Given the description of an element on the screen output the (x, y) to click on. 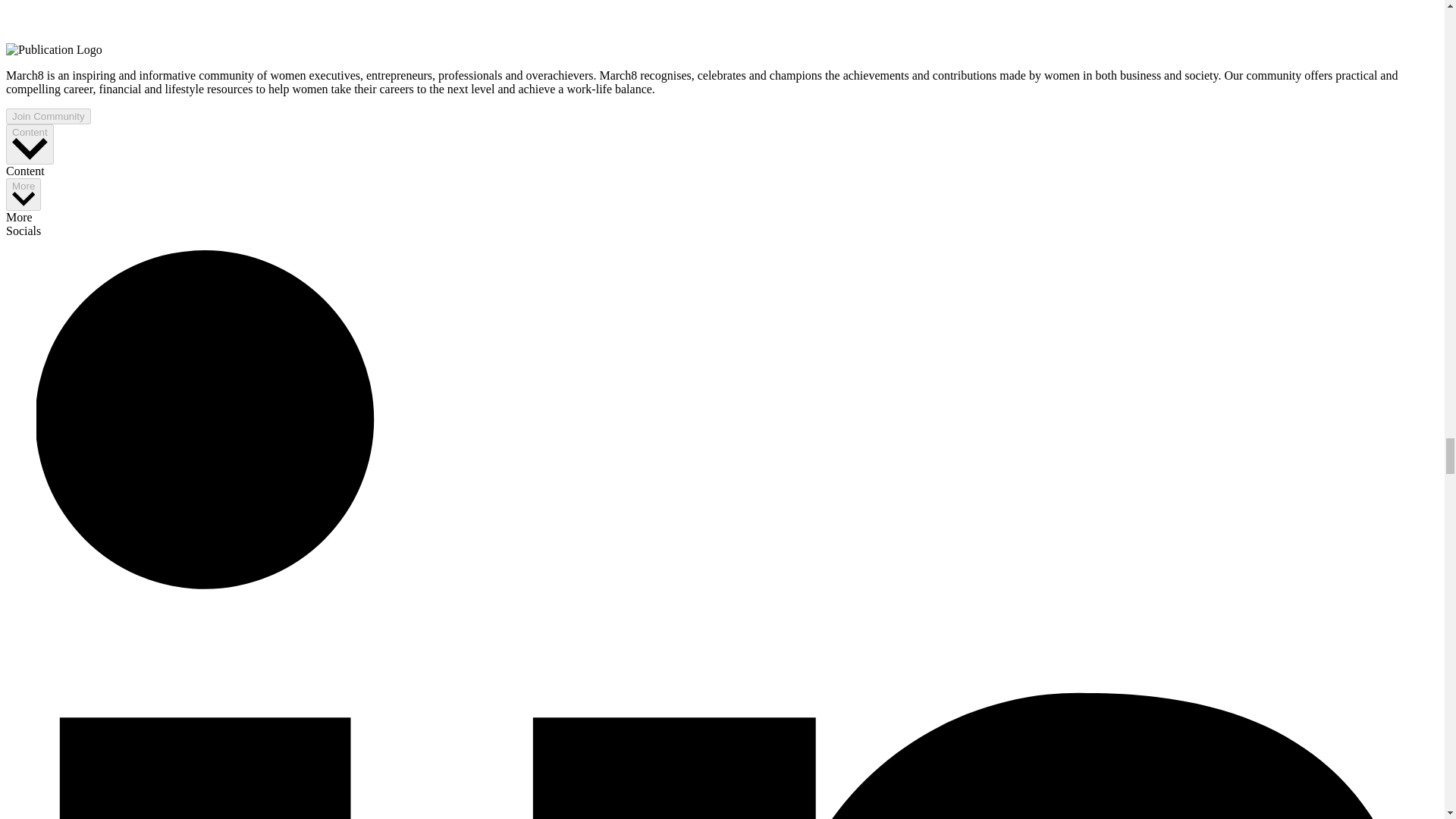
Content (29, 144)
More (22, 194)
Join Community (47, 116)
